Given the description of an element on the screen output the (x, y) to click on. 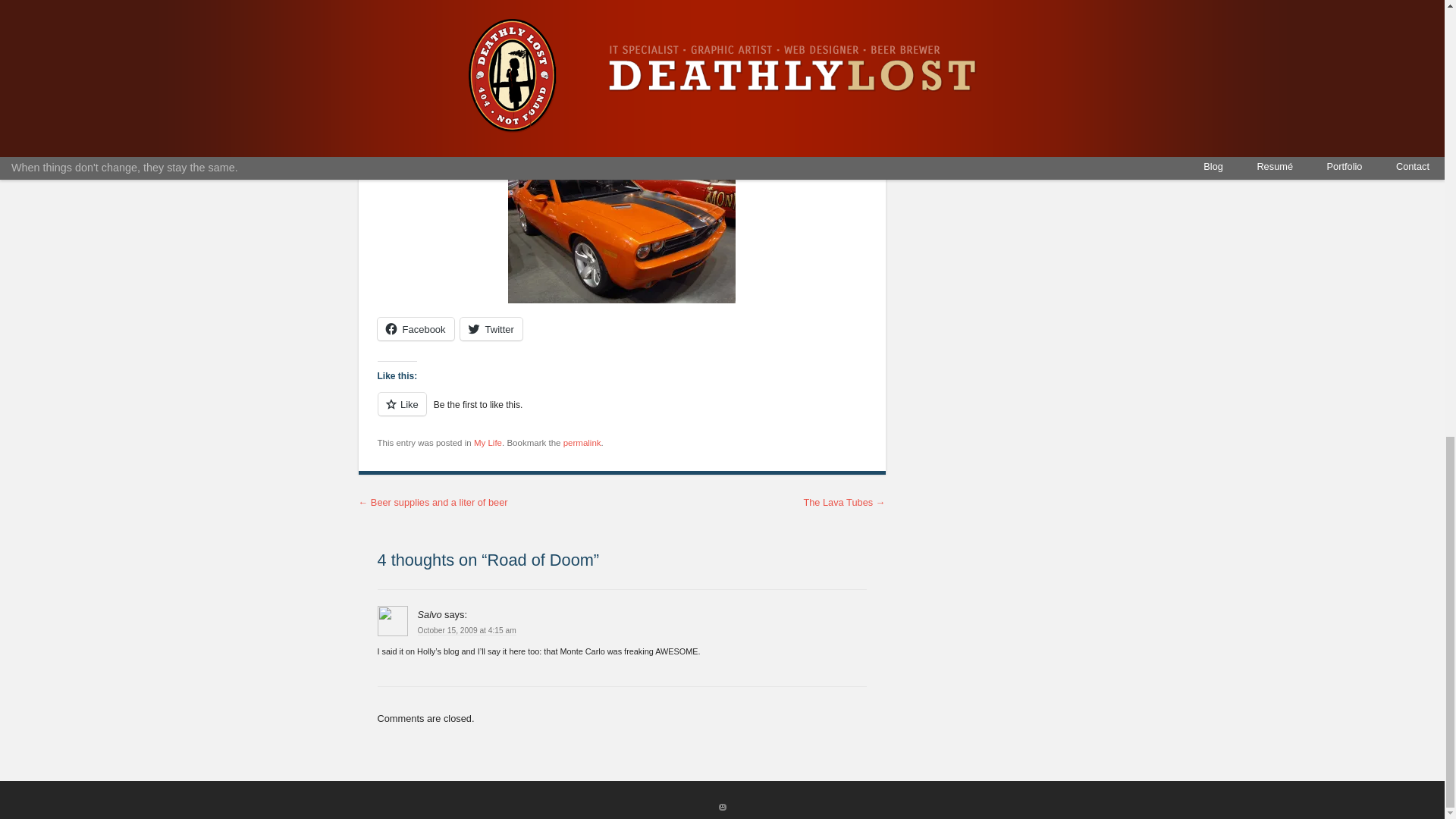
Click to share on Twitter (491, 328)
Facebook (415, 328)
Twitter (491, 328)
Like or Reblog (621, 413)
dodge-challenger-barret-jackson-angle (621, 227)
GuitarDriving (621, 52)
My Life (488, 442)
Permalink to Road of Doom (582, 442)
October 15, 2009 at 4:15 am (465, 630)
Click to share on Facebook (415, 328)
permalink (582, 442)
